Given the description of an element on the screen output the (x, y) to click on. 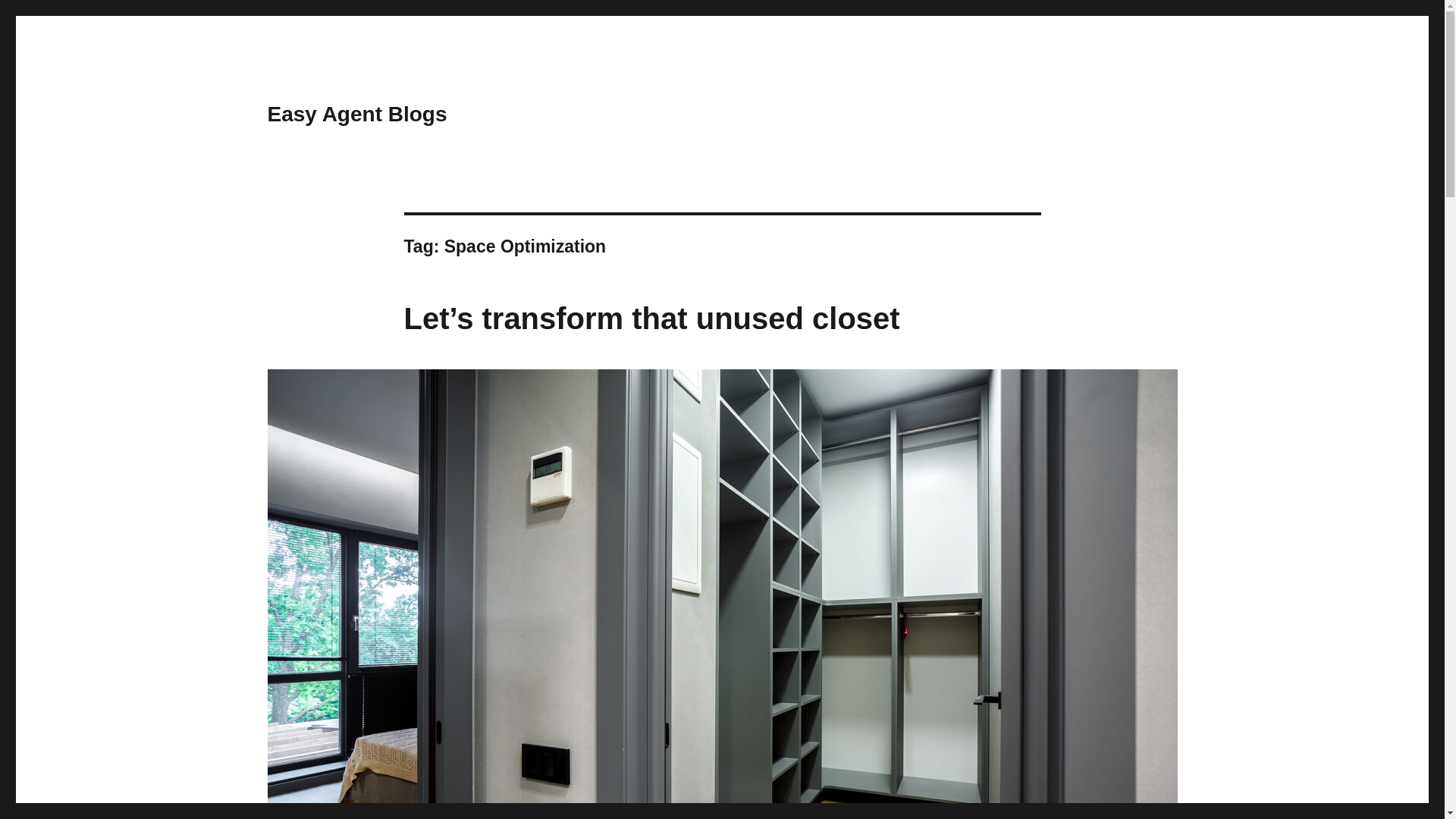
Easy Agent Blogs (356, 114)
